Given the description of an element on the screen output the (x, y) to click on. 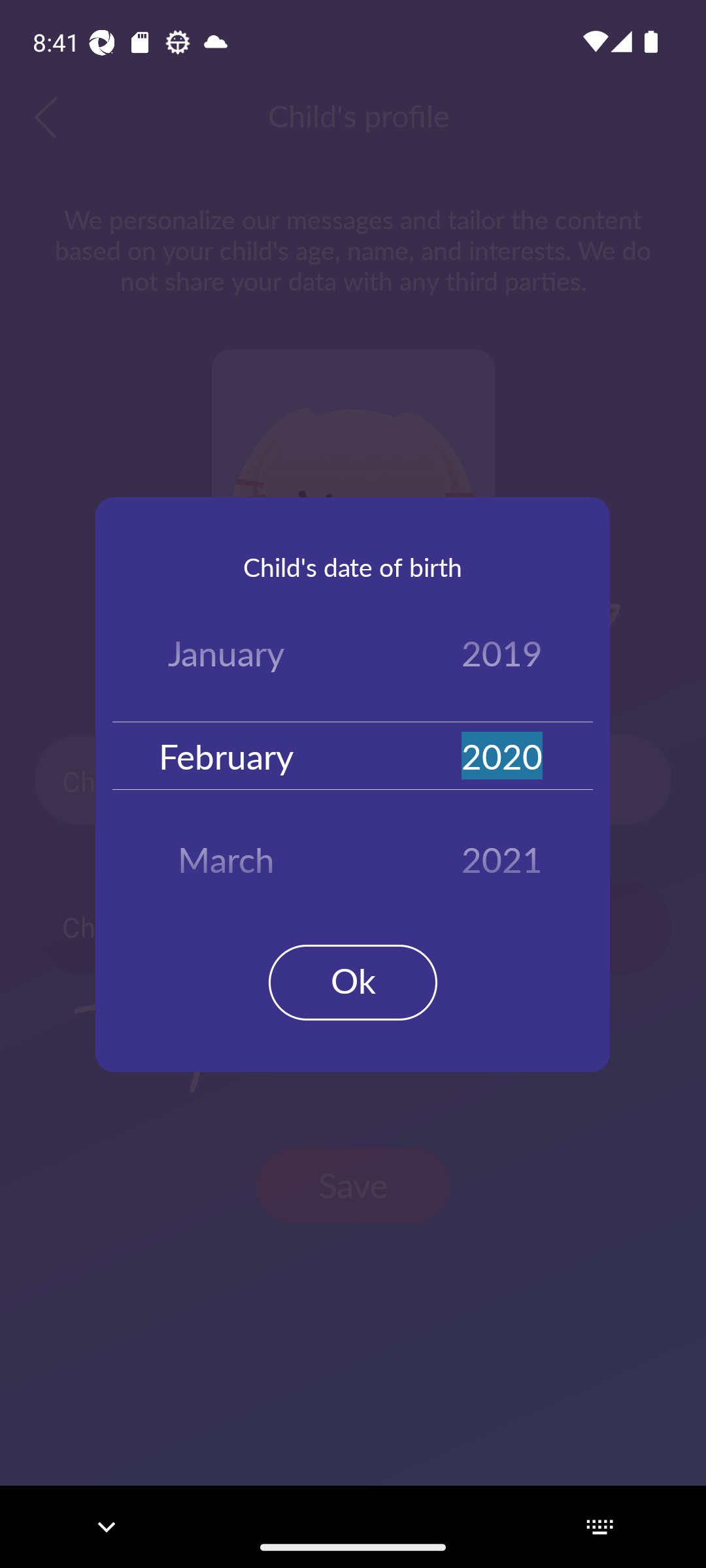
January (226, 656)
2019 (501, 656)
February (226, 754)
2020 (501, 754)
March (226, 852)
2021 (501, 852)
Ok (352, 981)
